Given the description of an element on the screen output the (x, y) to click on. 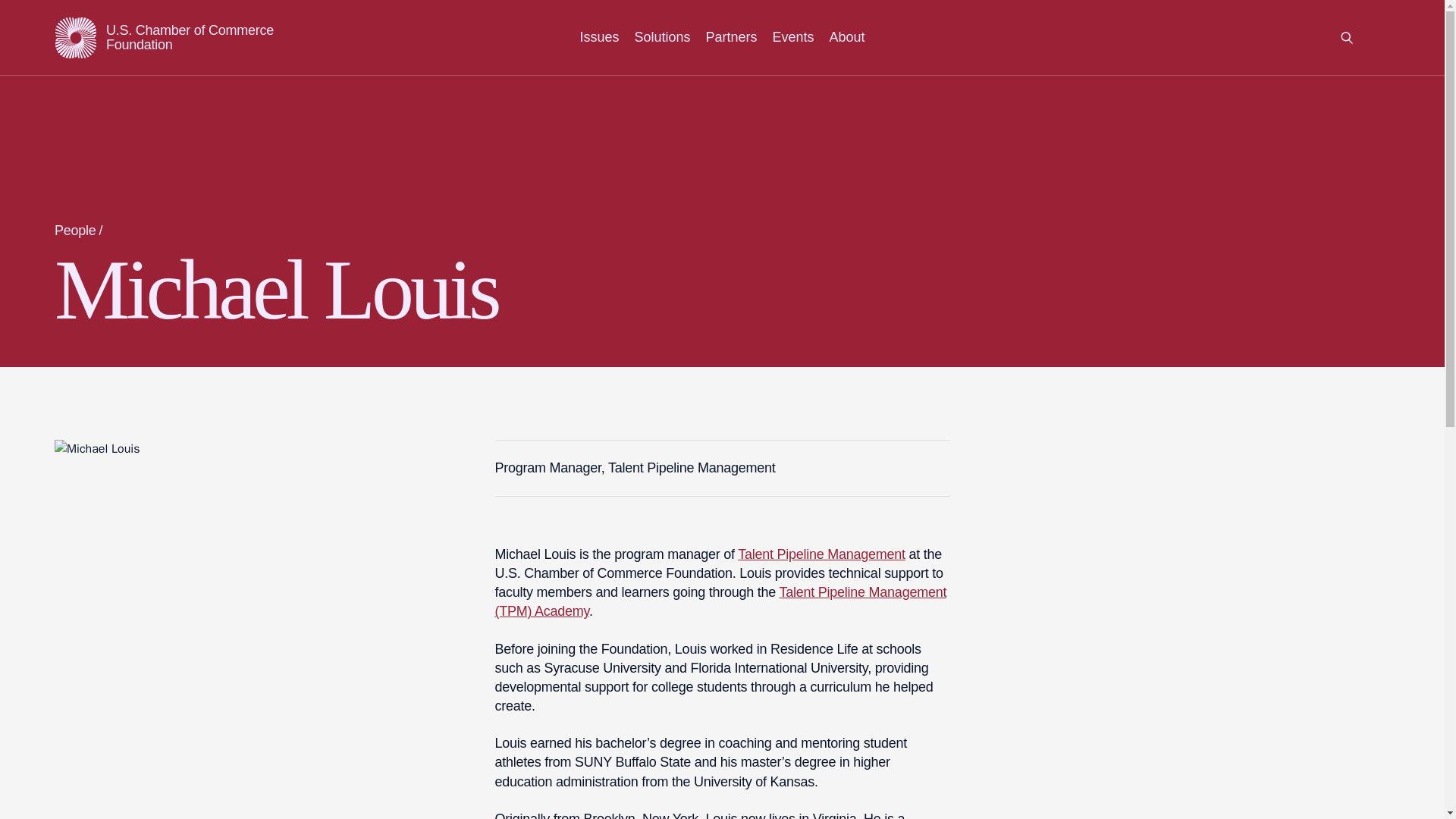
Site Search (1347, 37)
Solutions (661, 36)
Events (792, 36)
About (846, 36)
Issues (598, 36)
Partners (730, 36)
